Given the description of an element on the screen output the (x, y) to click on. 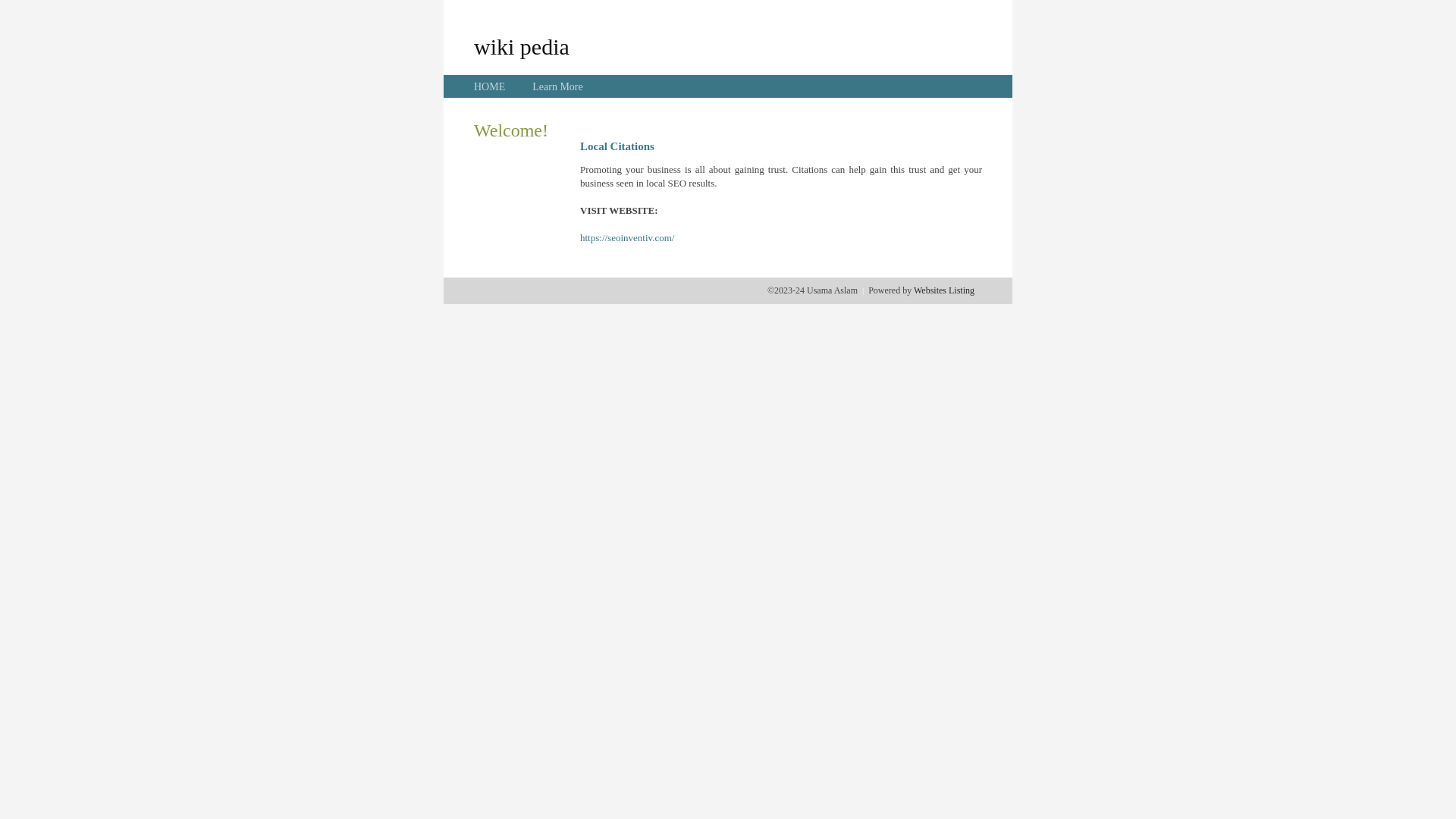
wiki pedia Element type: text (521, 46)
Learn More Element type: text (557, 86)
https://seoinventiv.com/ Element type: text (627, 237)
HOME Element type: text (489, 86)
Websites Listing Element type: text (943, 290)
